Given the description of an element on the screen output the (x, y) to click on. 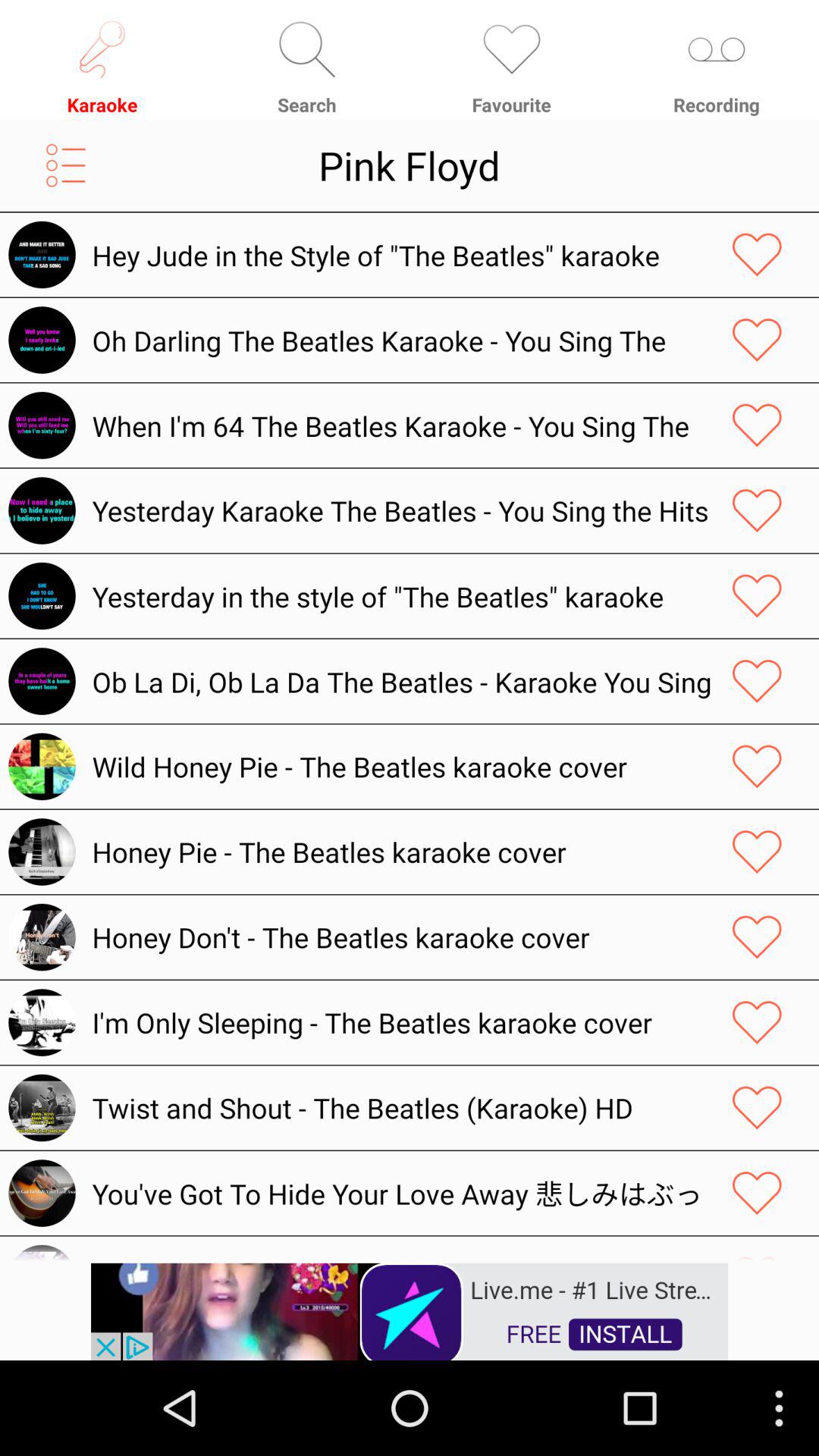
add song to favorites (756, 681)
